Given the description of an element on the screen output the (x, y) to click on. 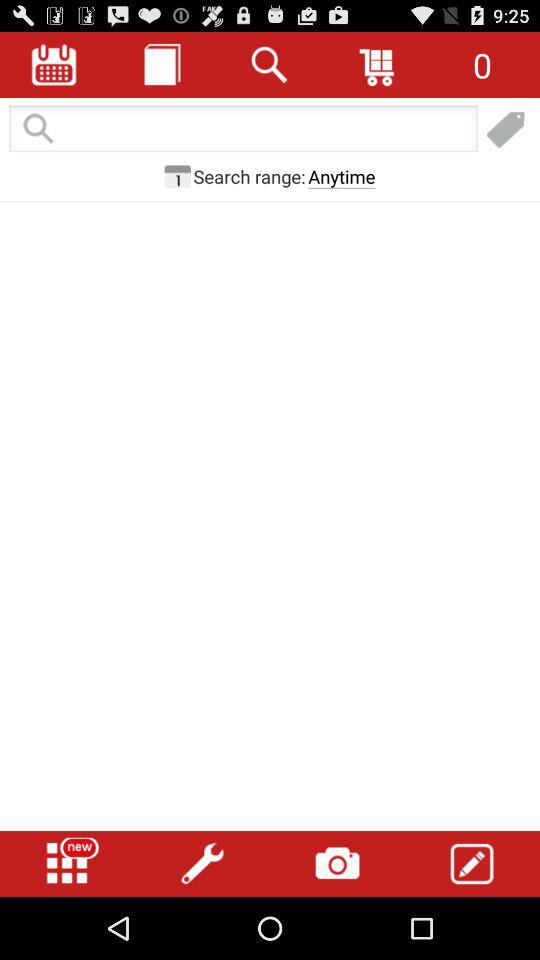
settings (202, 863)
